Given the description of an element on the screen output the (x, y) to click on. 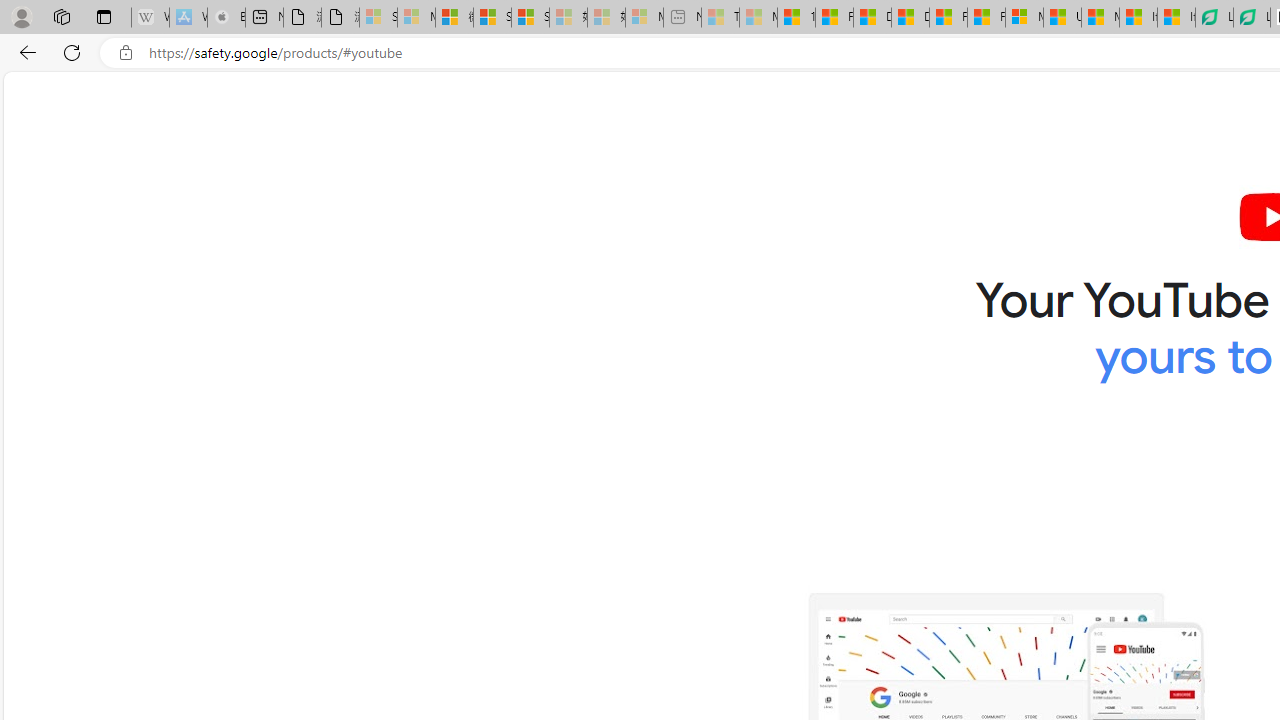
LendingTree - Compare Lenders (1251, 17)
Food and Drink - MSN (833, 17)
Sign in to your Microsoft account - Sleeping (377, 17)
Foo BAR | Trusted Community Engagement and Contributions (985, 17)
Top Stories - MSN - Sleeping (719, 17)
US Heat Deaths Soared To Record High Last Year (1062, 17)
